Given the description of an element on the screen output the (x, y) to click on. 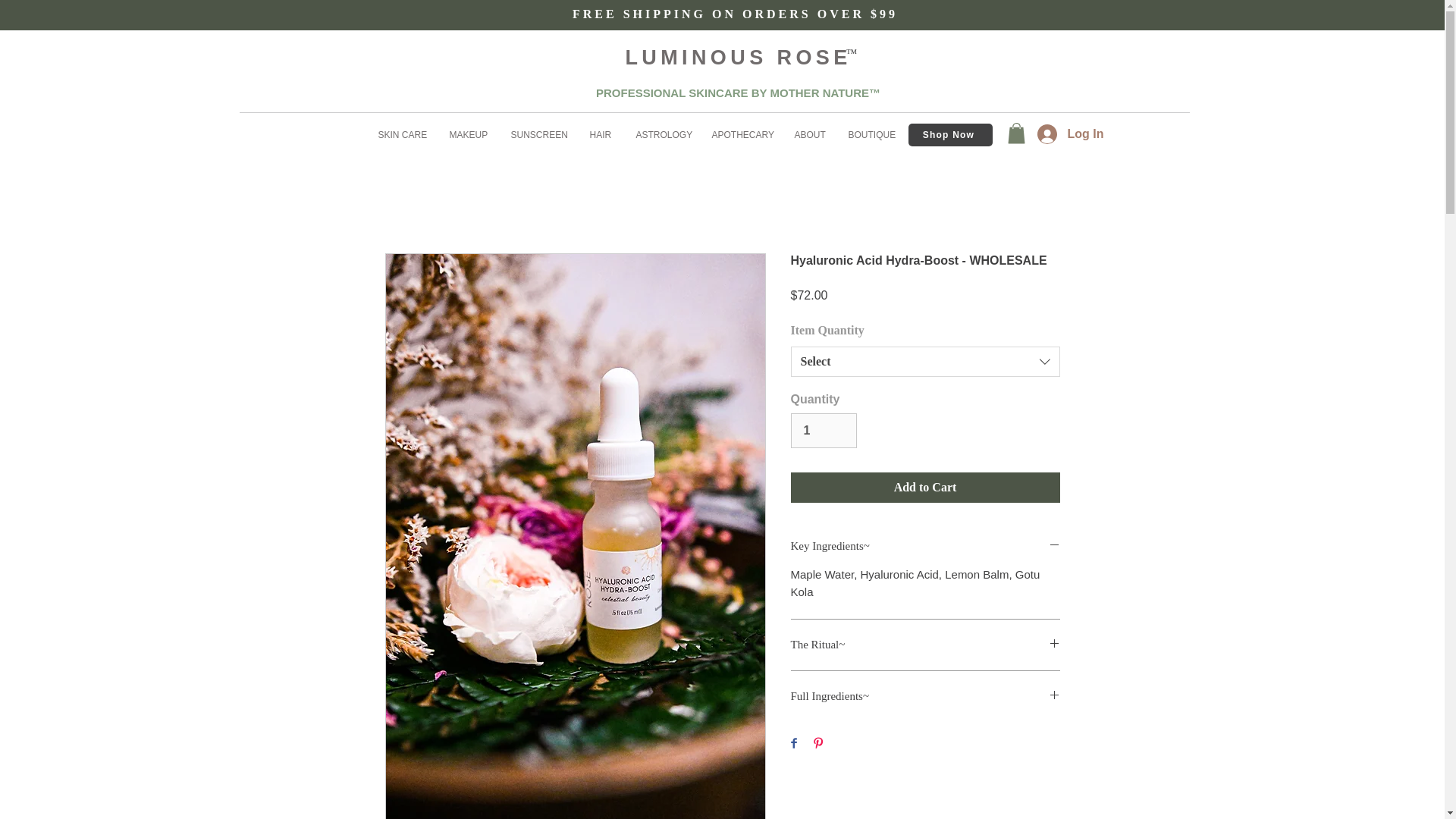
Shop Now (950, 134)
SUNSCREEN (538, 135)
MAKEUP (466, 135)
Add to Cart (924, 487)
1 (823, 430)
LUMINOUS ROSE (737, 56)
ASTROLOGY (660, 135)
Select (924, 361)
Log In (1068, 133)
